Given the description of an element on the screen output the (x, y) to click on. 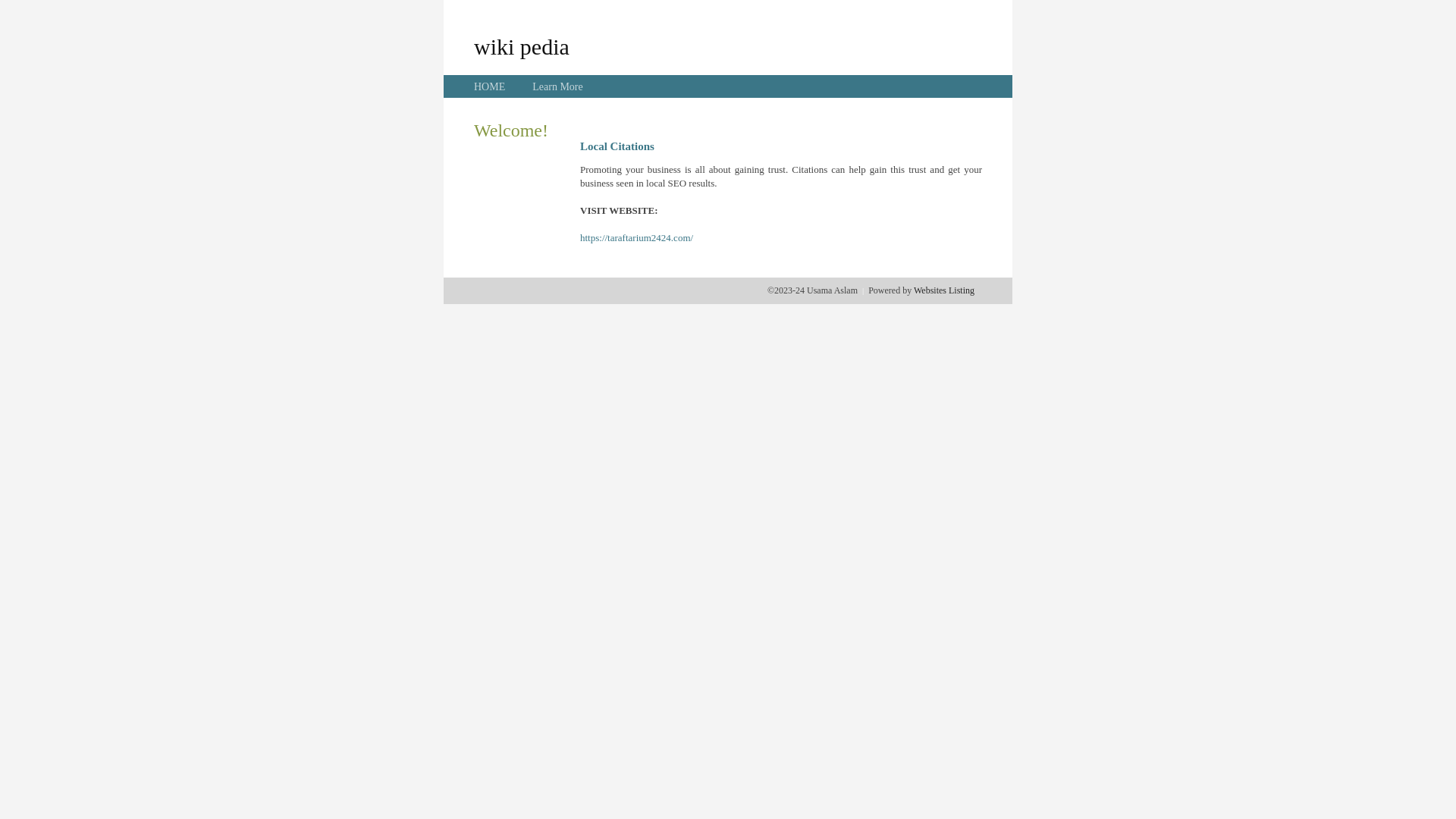
https://taraftarium2424.com/ Element type: text (636, 237)
HOME Element type: text (489, 86)
Websites Listing Element type: text (943, 290)
Learn More Element type: text (557, 86)
wiki pedia Element type: text (521, 46)
